Given the description of an element on the screen output the (x, y) to click on. 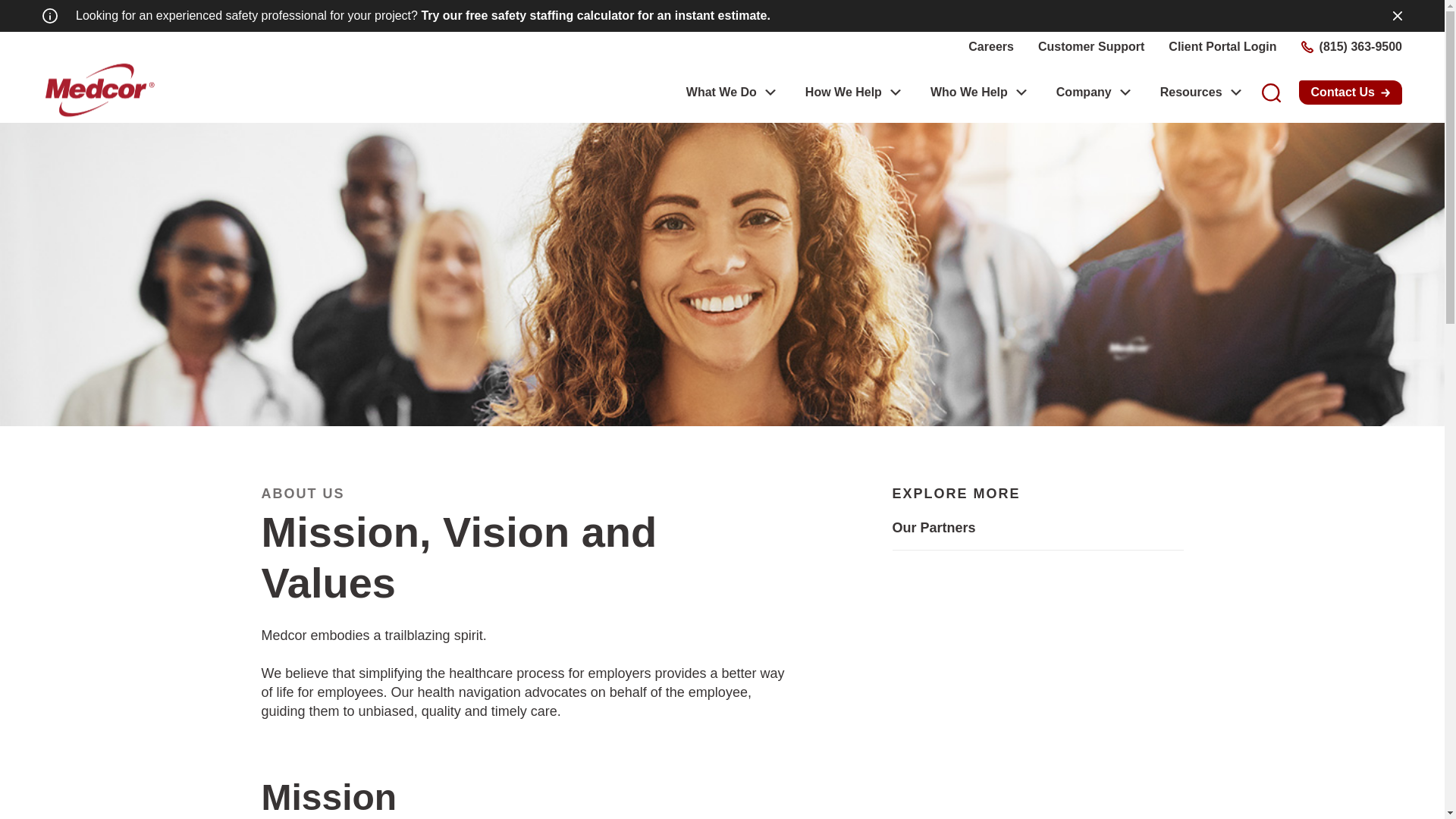
Who We Help (968, 92)
Company (1084, 92)
How We Help (843, 92)
Careers (990, 46)
Resources (1191, 92)
What We Do (721, 92)
Client Portal Login (1222, 46)
Customer Support (1091, 46)
